Given the description of an element on the screen output the (x, y) to click on. 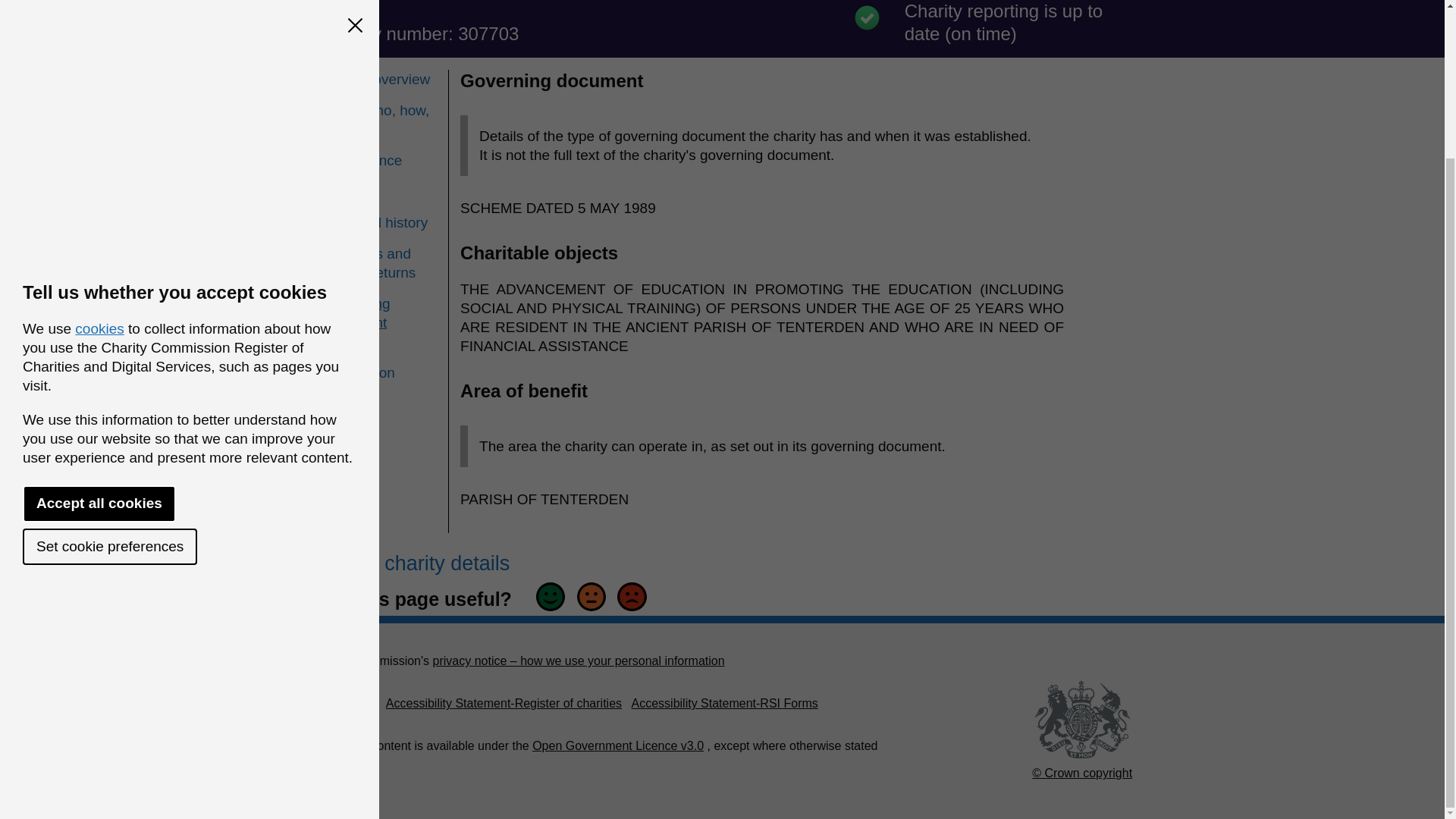
Accessibility Statement-Register of charities (503, 703)
Trustees (379, 190)
Governing document (356, 312)
Governance (379, 159)
Set cookie preferences (109, 361)
Print charity details (416, 563)
Charity overview (379, 78)
Cookies (334, 703)
Contact information (379, 362)
Accessibility Statement-RSI Forms (723, 703)
Financial history (379, 221)
What, who, how, where (379, 119)
Accept all cookies (99, 318)
Open Government Licence v3.0 (617, 745)
cookies (99, 143)
